Given the description of an element on the screen output the (x, y) to click on. 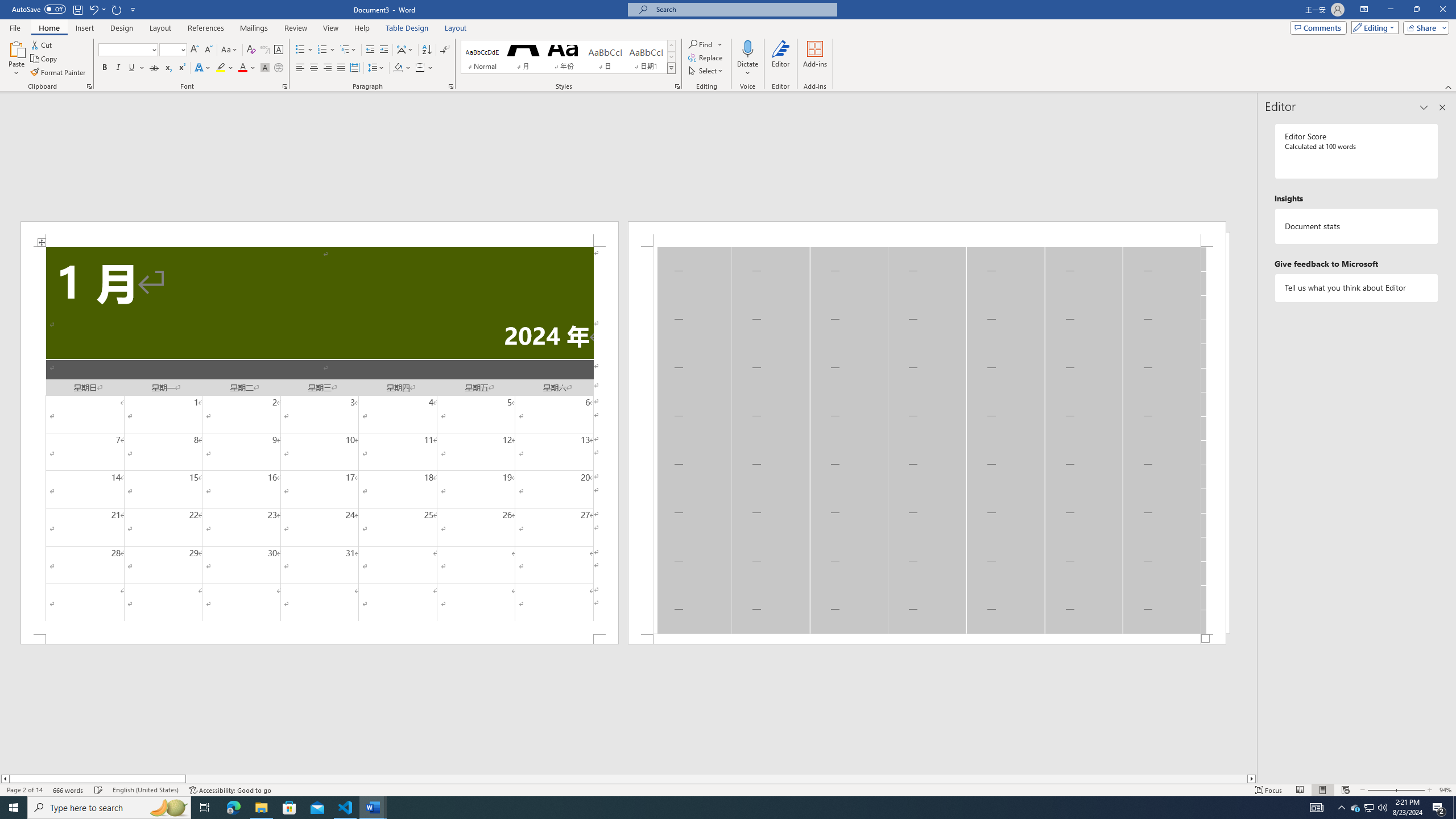
Shading RGB(0, 0, 0) (397, 67)
Paragraph... (450, 85)
Copy (45, 58)
Multilevel List (347, 49)
Row up (670, 45)
Text Effects and Typography (202, 67)
Undo Apply Quick Style (92, 9)
Select (705, 69)
Phonetic Guide... (264, 49)
Text Highlight Color Yellow (220, 67)
